Given the description of an element on the screen output the (x, y) to click on. 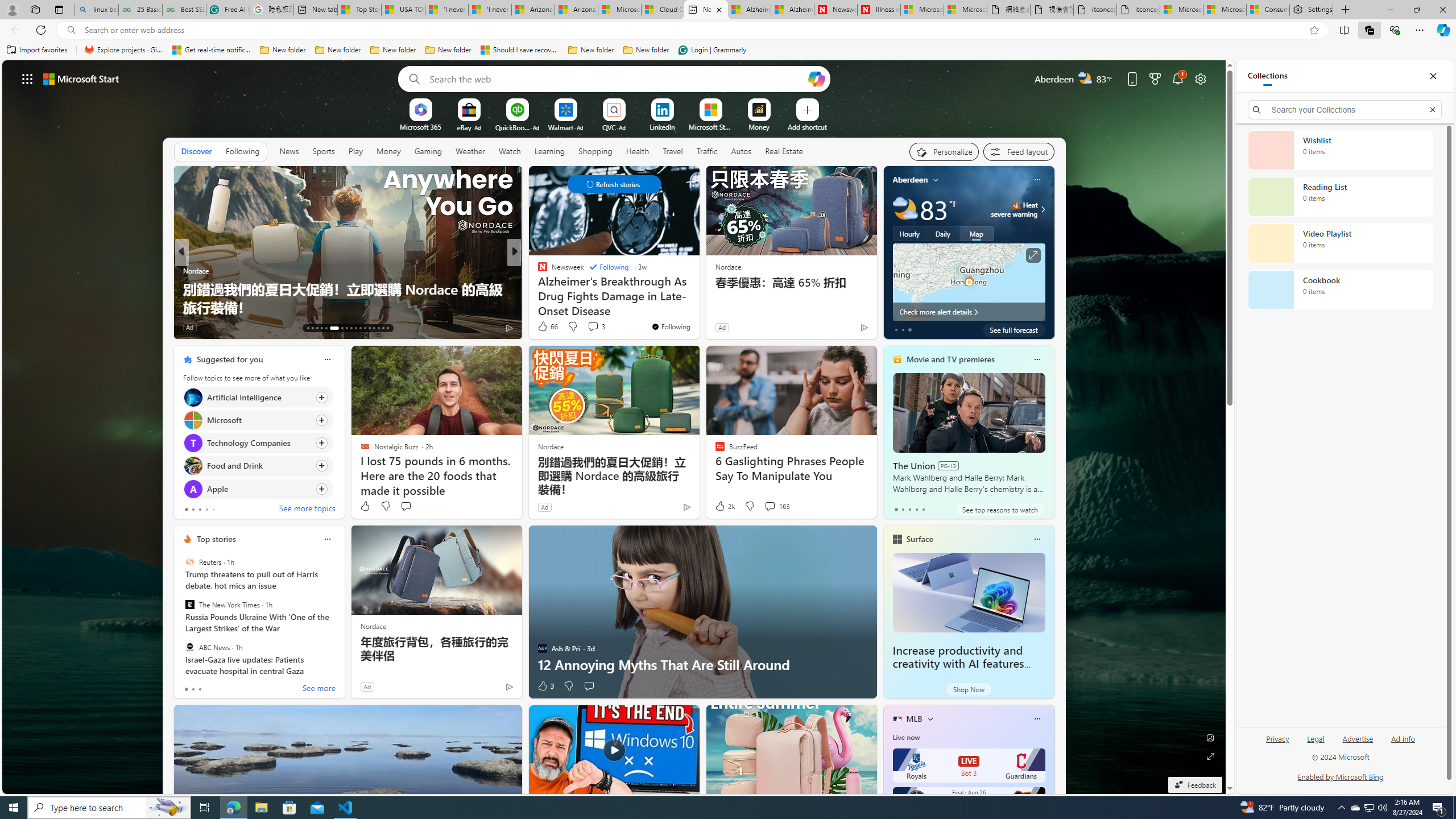
View comments 2 Comment (592, 327)
Favorites bar (728, 49)
Click to follow topic Artificial Intelligence (257, 397)
Login | Grammarly (712, 49)
Click to see more information (1033, 255)
Royals LIVE Bot 3 Guardians (968, 765)
107 Like (545, 327)
View comments 26 Comment (597, 327)
Autos (740, 151)
Click to follow topic Technology Companies (257, 442)
